Given the description of an element on the screen output the (x, y) to click on. 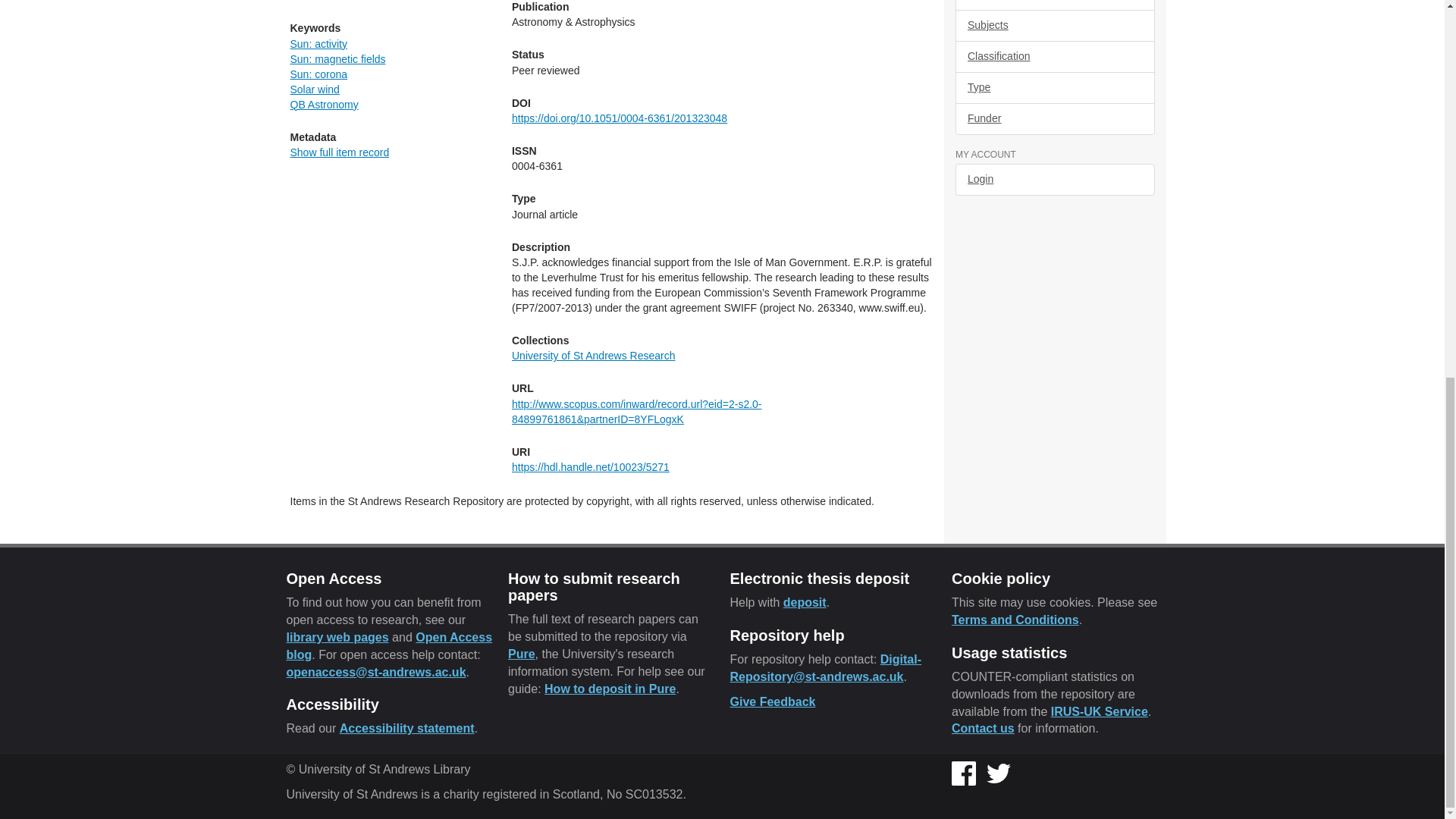
University of St Andrews Research (593, 355)
Accessibility statement (406, 727)
Show full item record (338, 152)
QB Astronomy (323, 104)
Email an enquiry about IRUS-UK statistics (983, 727)
Email address for St Andrews Research Repository (825, 667)
University of St Andrews Library Open Access web pages (337, 636)
Sun: corona (318, 73)
Solar wind (314, 89)
